Given the description of an element on the screen output the (x, y) to click on. 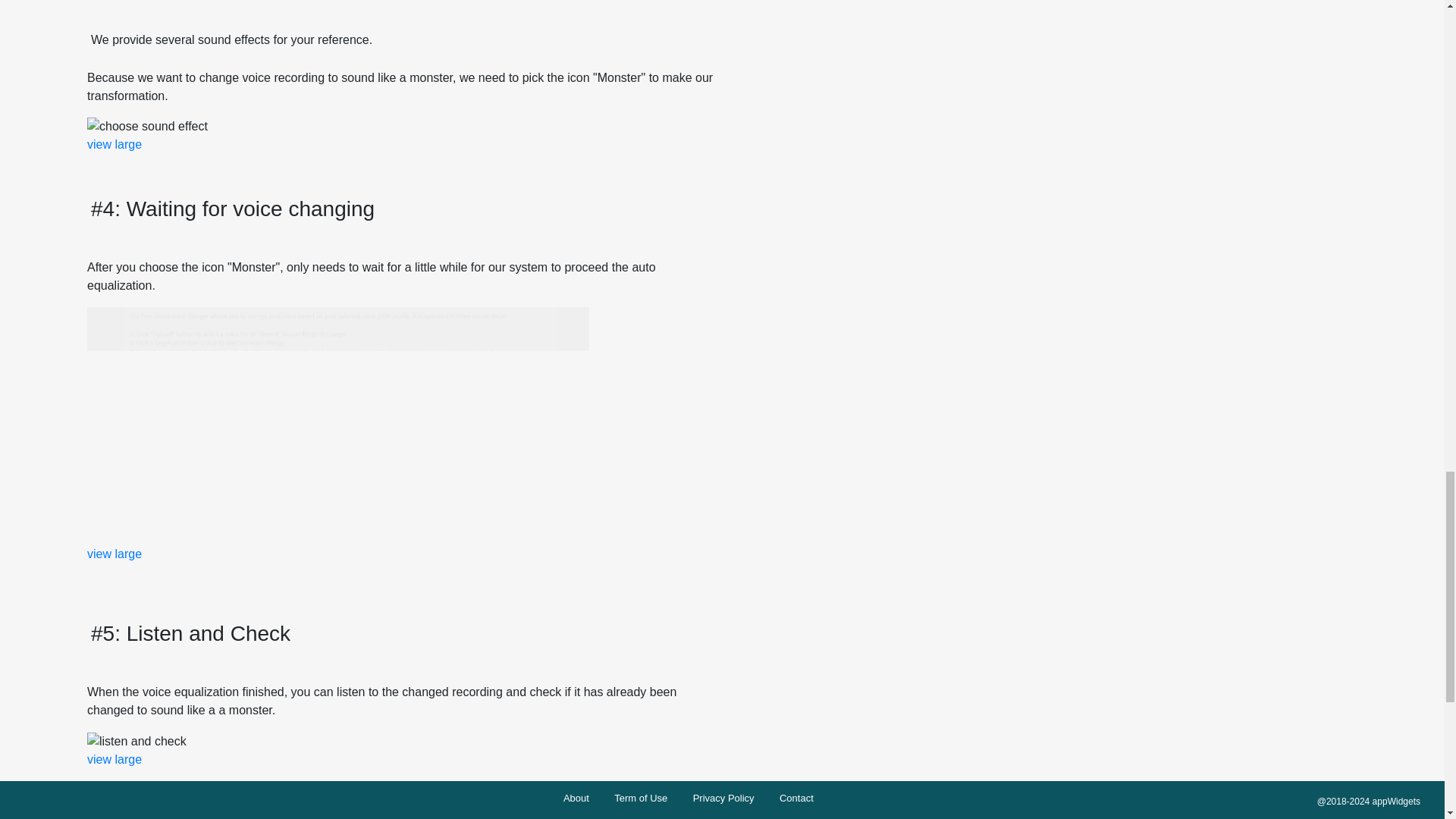
view large (114, 553)
view large (114, 758)
view large (114, 144)
